Given the description of an element on the screen output the (x, y) to click on. 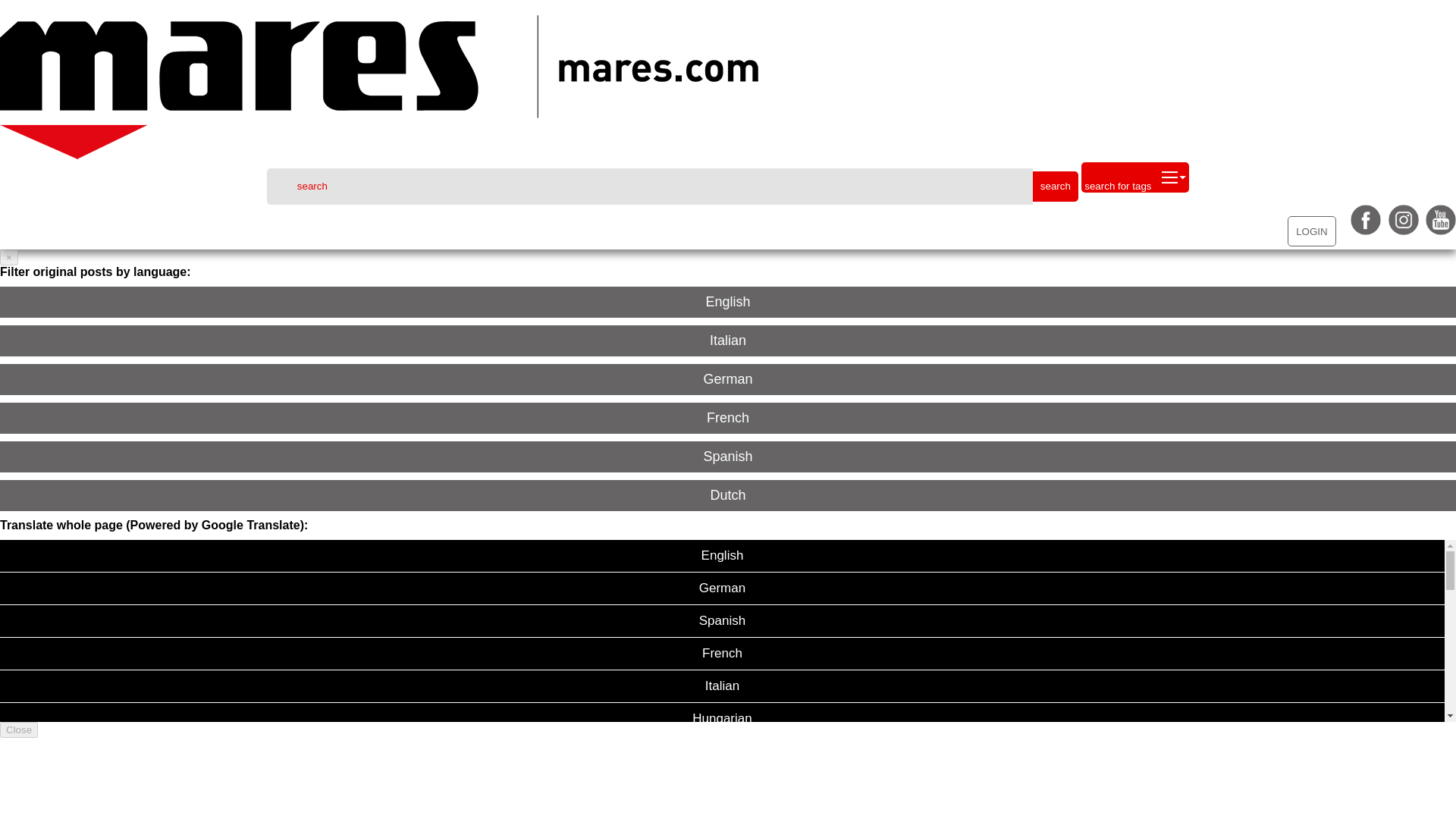
search for tags (1135, 177)
search (649, 186)
Instagram (1401, 230)
LOGIN (1314, 230)
Facebook (1363, 230)
search (1055, 186)
LOGIN (1311, 231)
Login (1314, 230)
